Given the description of an element on the screen output the (x, y) to click on. 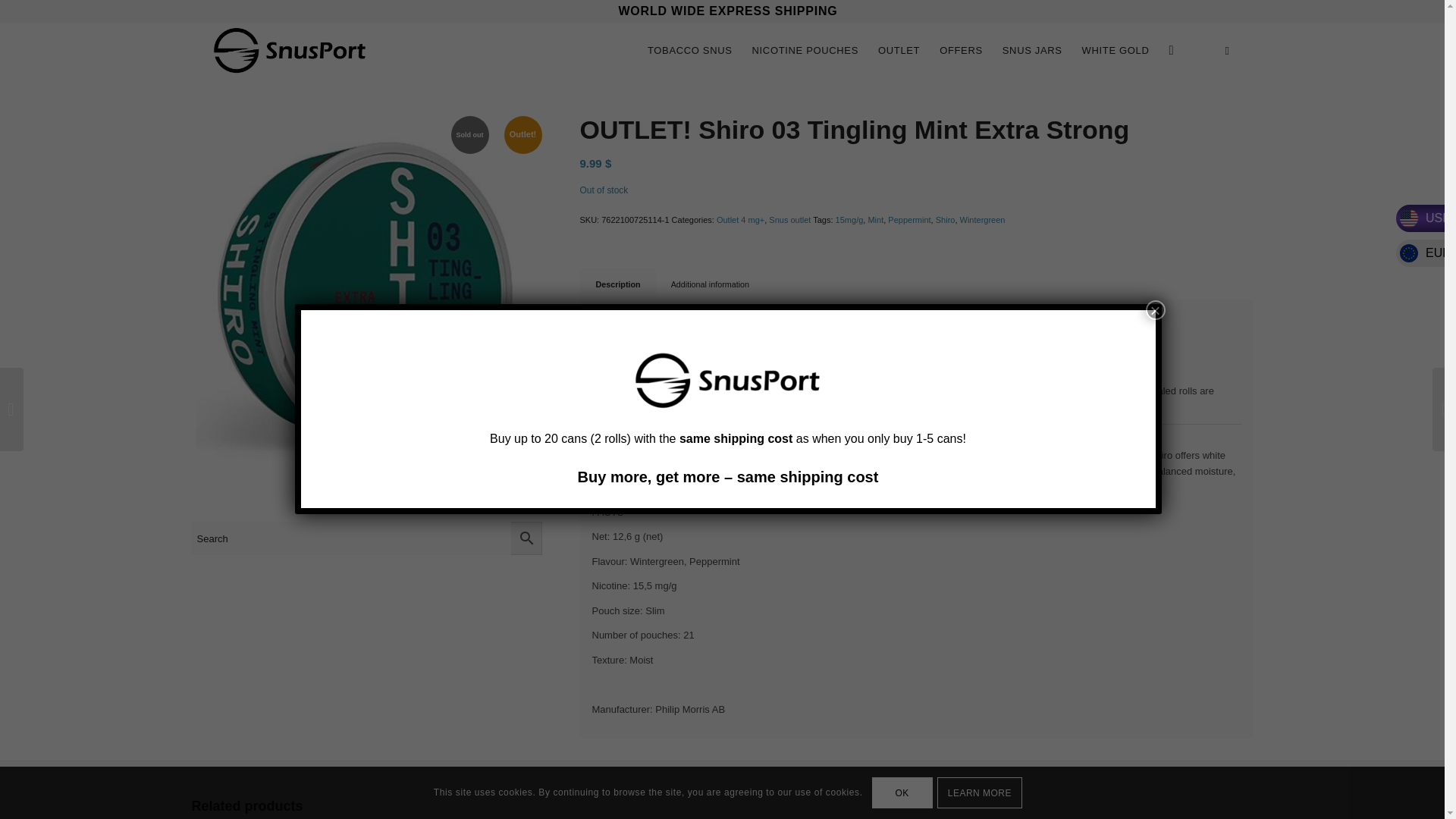
Description (617, 284)
Additional information (709, 284)
NICOTINE POUCHES (804, 50)
TOBACCO SNUS (689, 50)
